Given the description of an element on the screen output the (x, y) to click on. 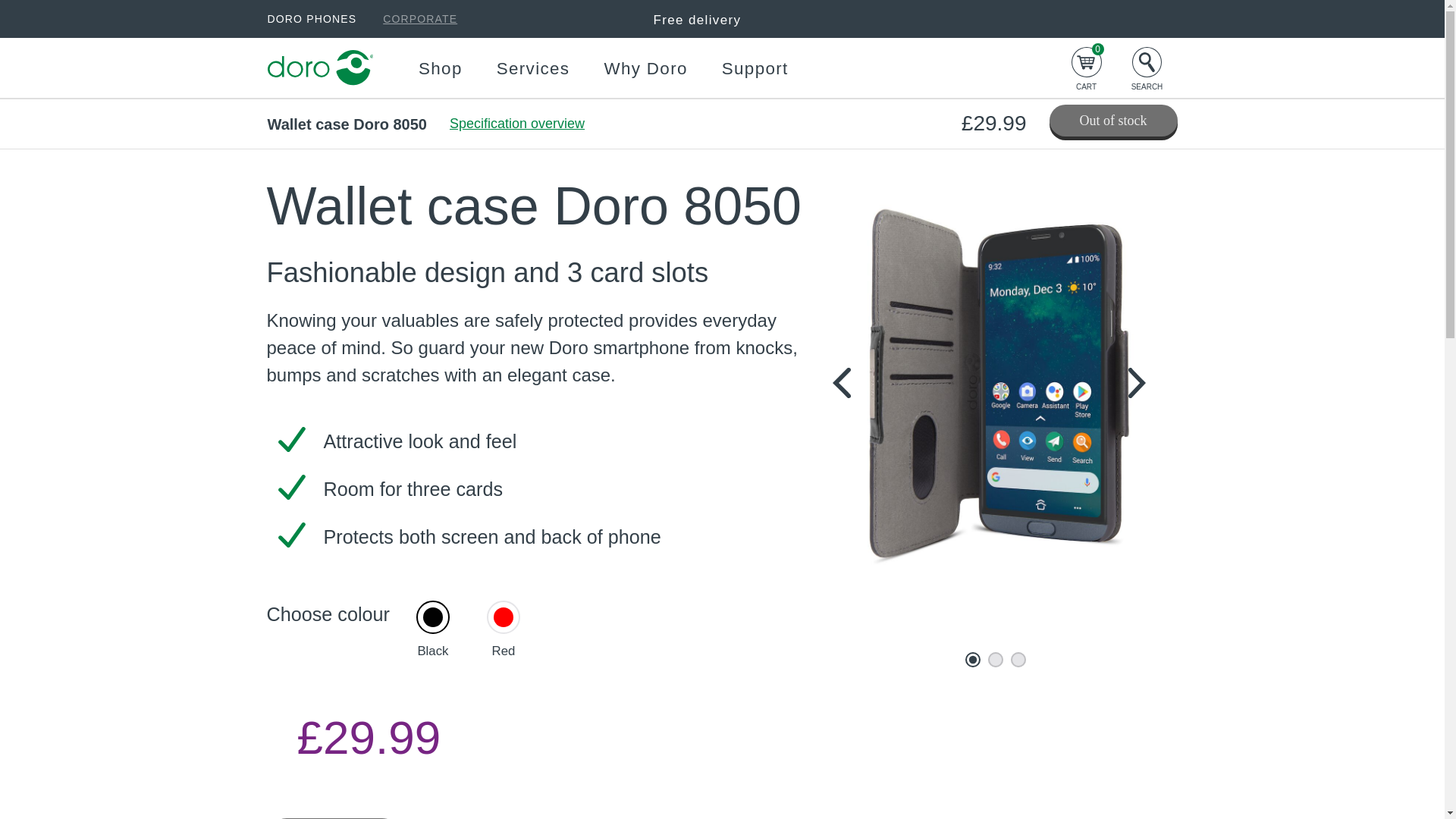
CORPORATE (419, 18)
Why Doro (645, 67)
Support (755, 67)
Shop (441, 67)
DORO PHONES (311, 18)
Services (533, 67)
